Given the description of an element on the screen output the (x, y) to click on. 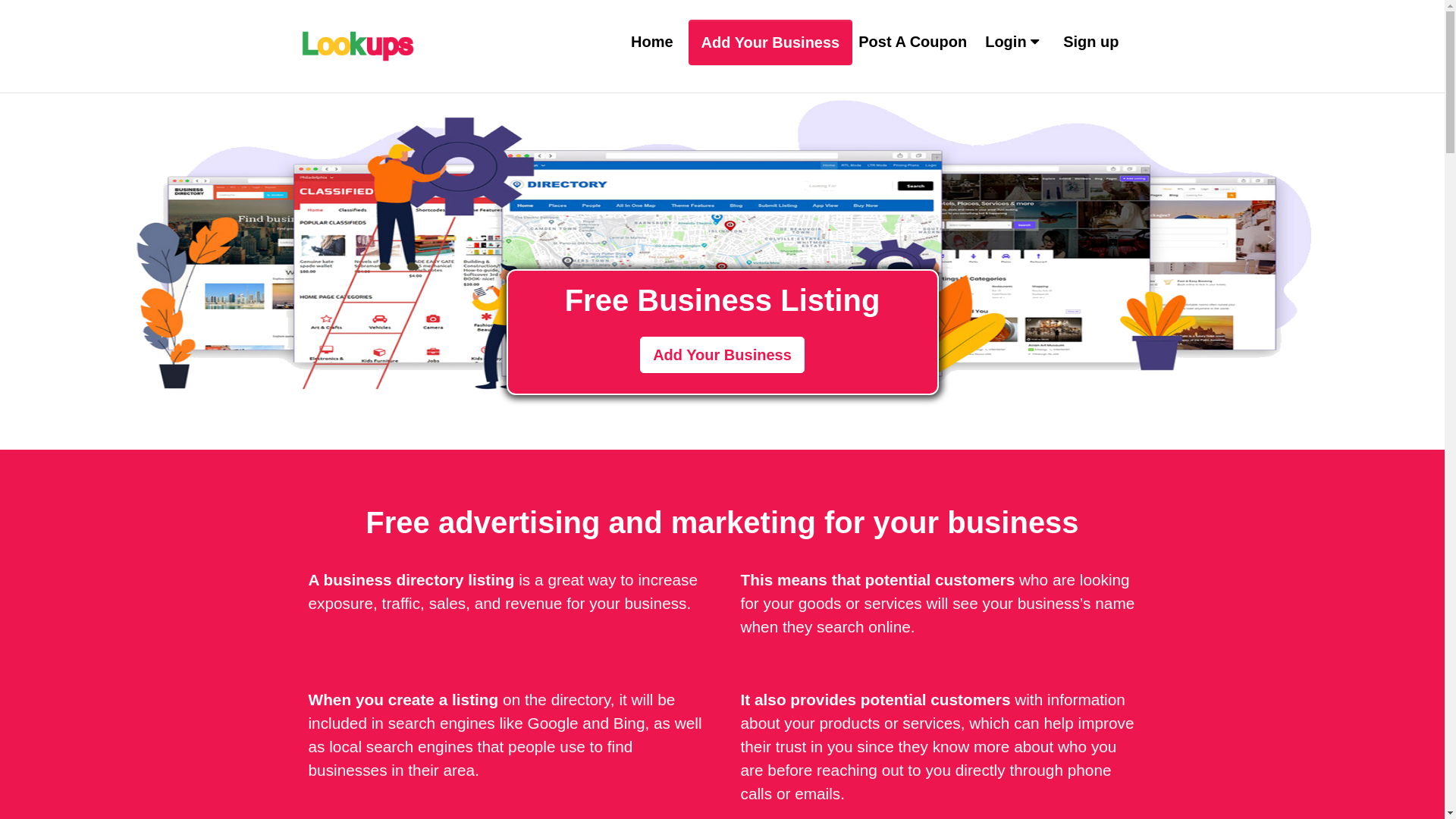
Sign up Element type: text (1090, 45)
Post A Coupon Element type: text (912, 41)
Home Element type: text (651, 41)
Add Your Business Element type: text (770, 42)
Login Element type: text (1011, 41)
Add Your Business Element type: text (722, 354)
